Given the description of an element on the screen output the (x, y) to click on. 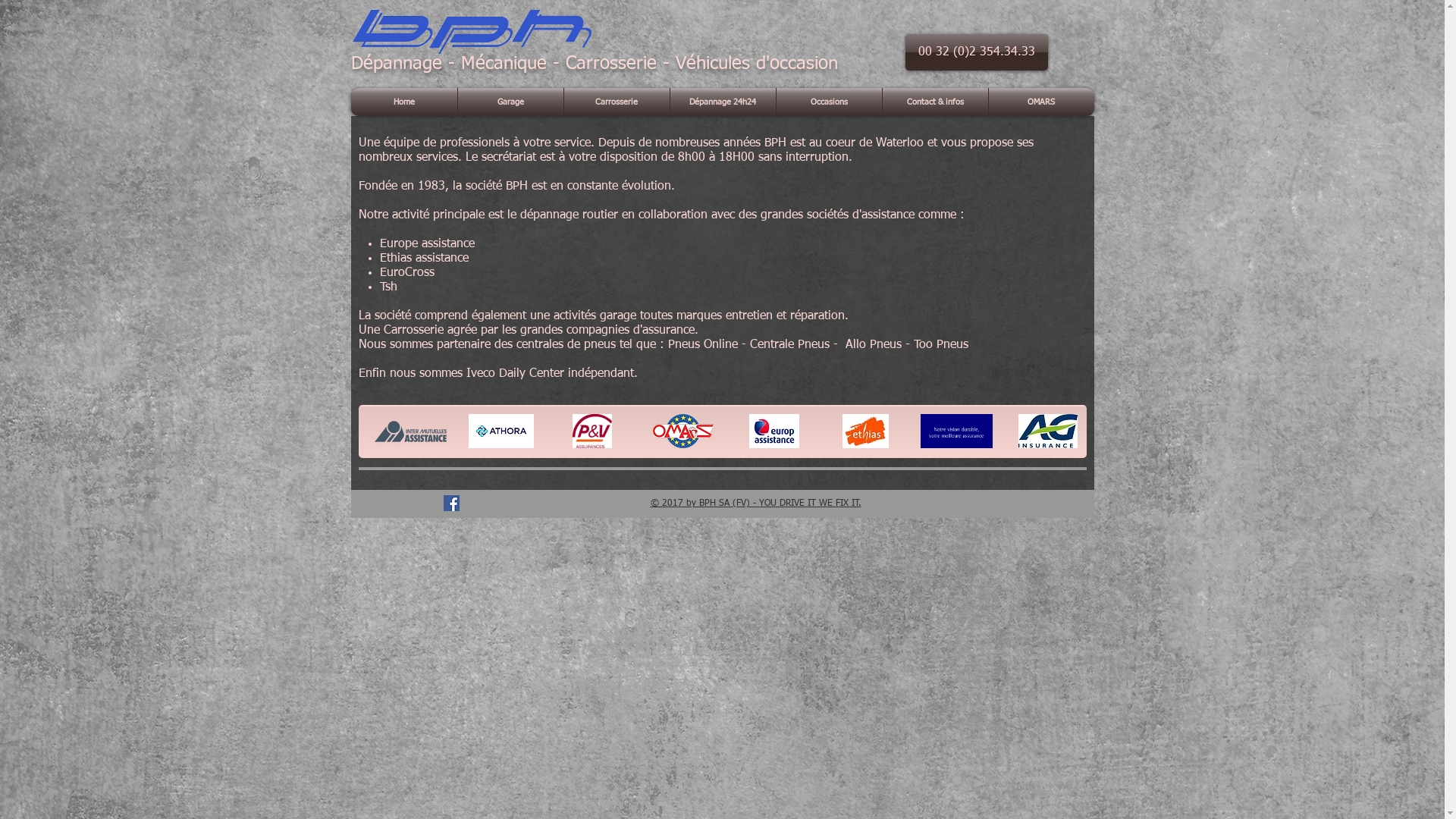
WEB-STAT Element type: hover (793, 31)
Bouton J'aime Facebook Element type: hover (394, 503)
00 32 (0)2 354.34.33 Element type: text (976, 52)
Home Element type: text (403, 101)
logo BPH.jpg Element type: hover (470, 31)
Cookie Alert Element type: hover (1029, 503)
Garage Element type: text (510, 101)
Bouton J'aime Facebook Element type: hover (522, 503)
Carrosserie Element type: text (616, 101)
Occasions Element type: text (828, 101)
OMARS Element type: text (1041, 101)
Contact & infos Element type: text (935, 101)
